Given the description of an element on the screen output the (x, y) to click on. 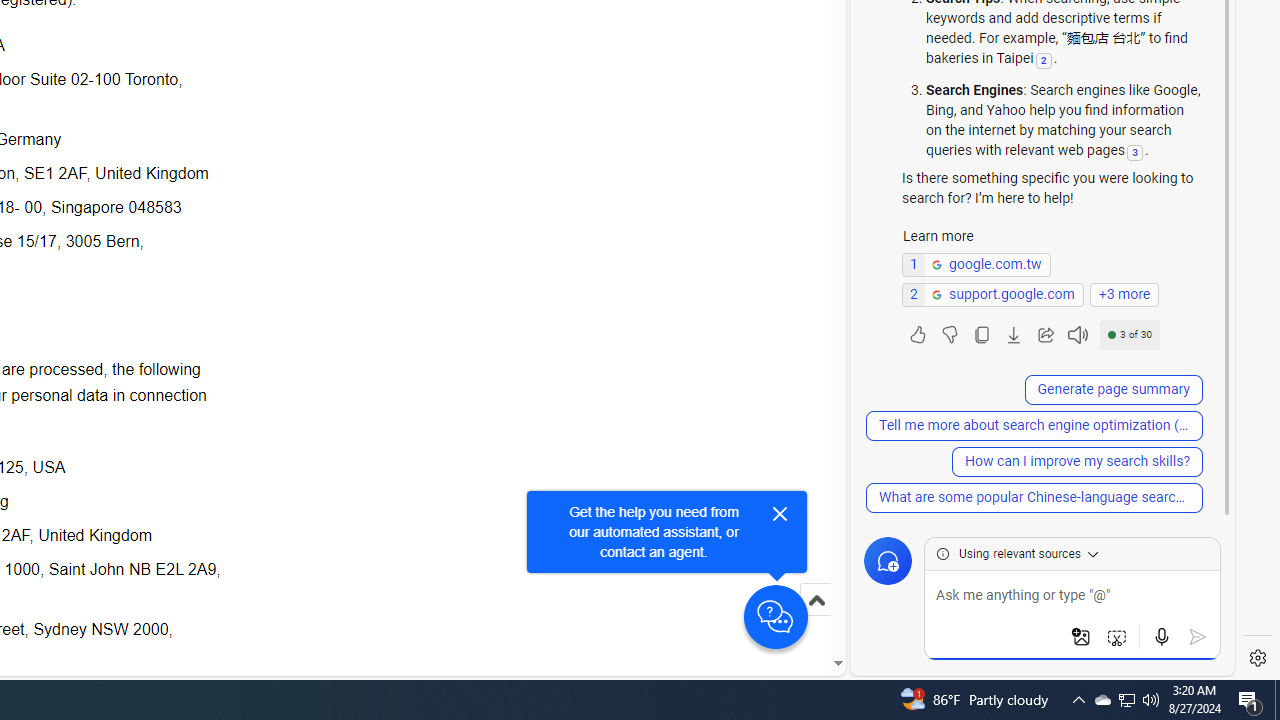
Scroll to top (816, 599)
Scroll to top (816, 620)
